Given the description of an element on the screen output the (x, y) to click on. 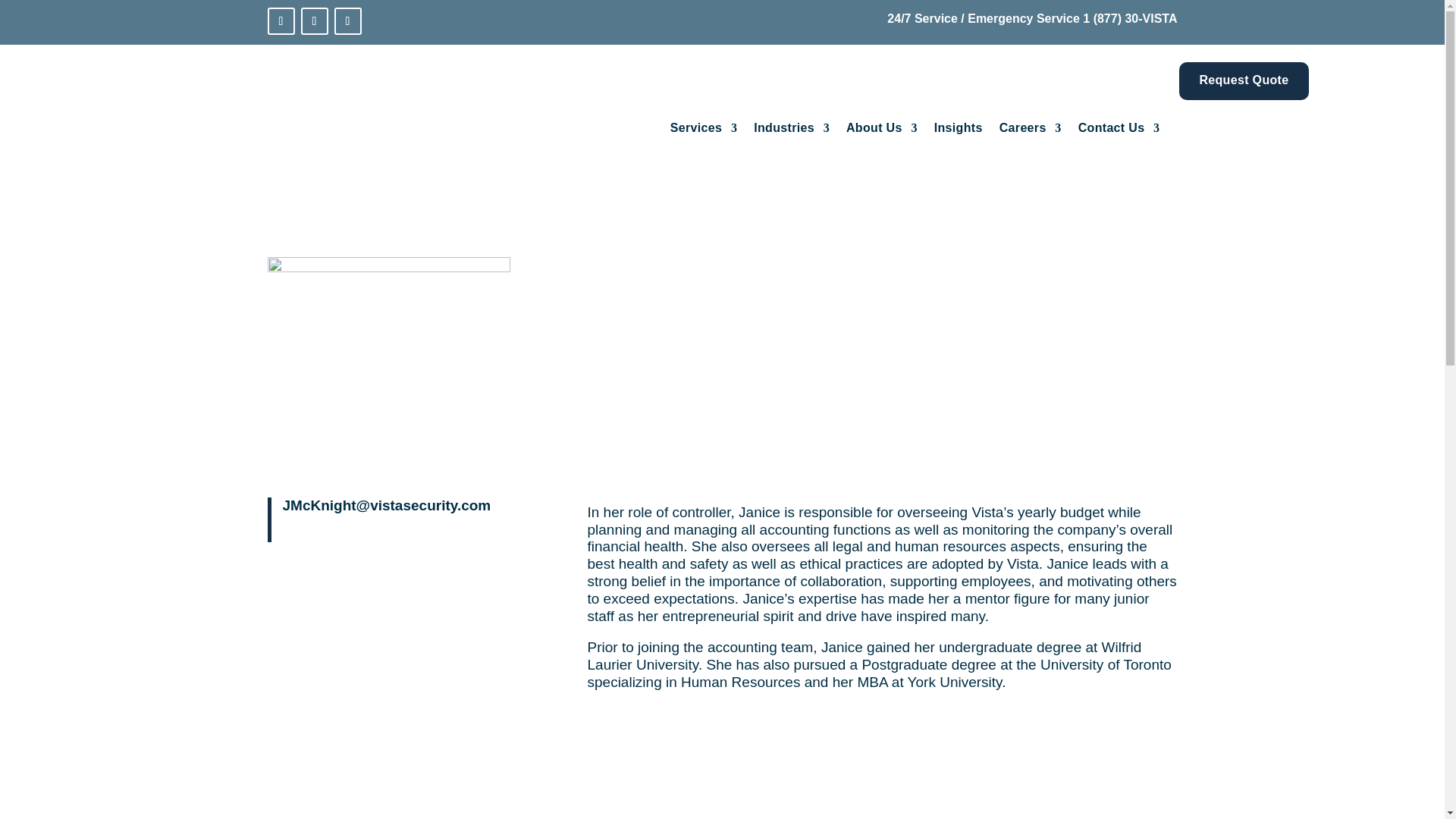
Follow on Facebook (313, 21)
Follow on Instagram (347, 21)
Follow on LinkedIn (280, 21)
janice (387, 364)
